Given the description of an element on the screen output the (x, y) to click on. 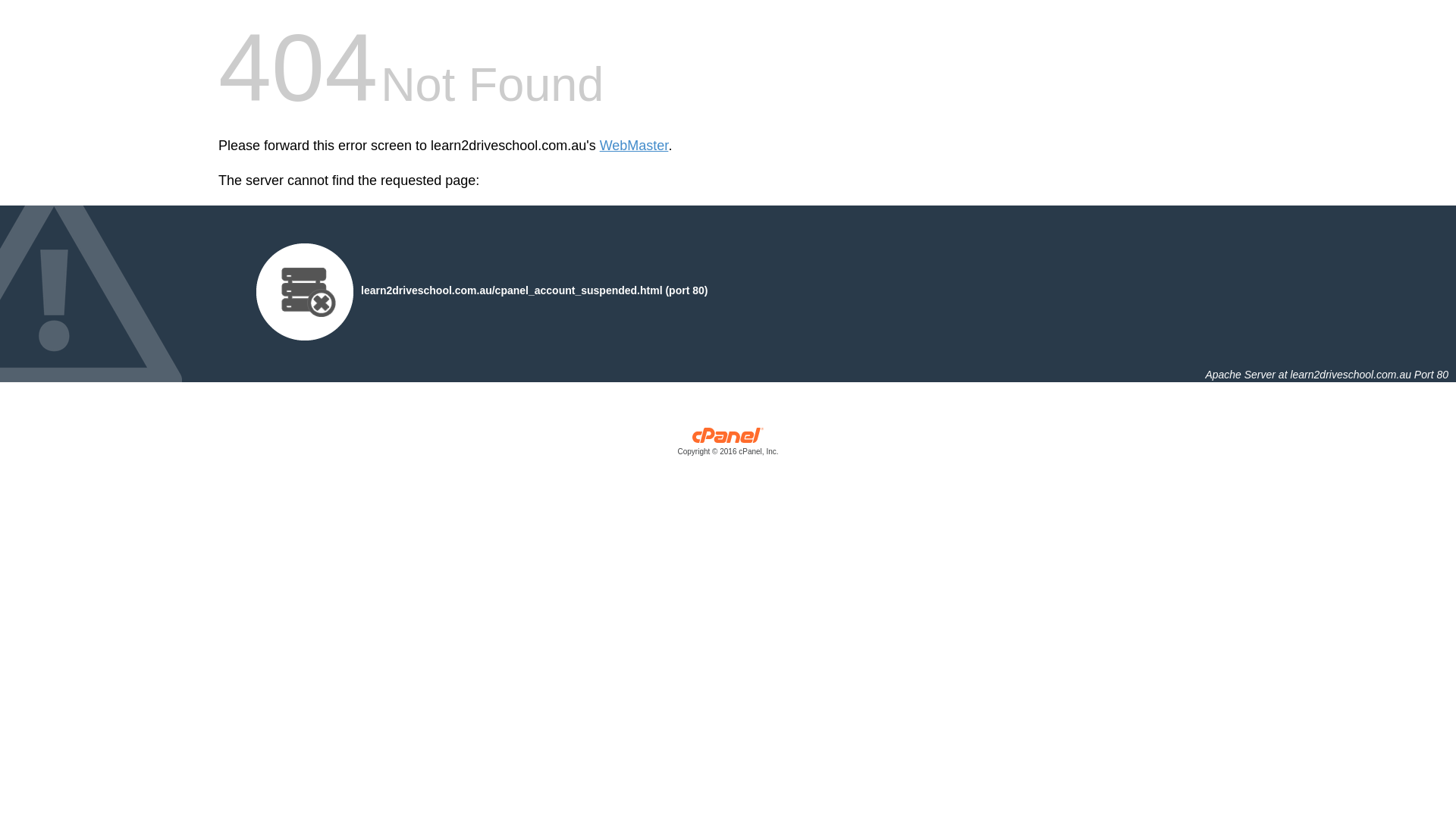
WebMaster Element type: text (633, 145)
